Given the description of an element on the screen output the (x, y) to click on. 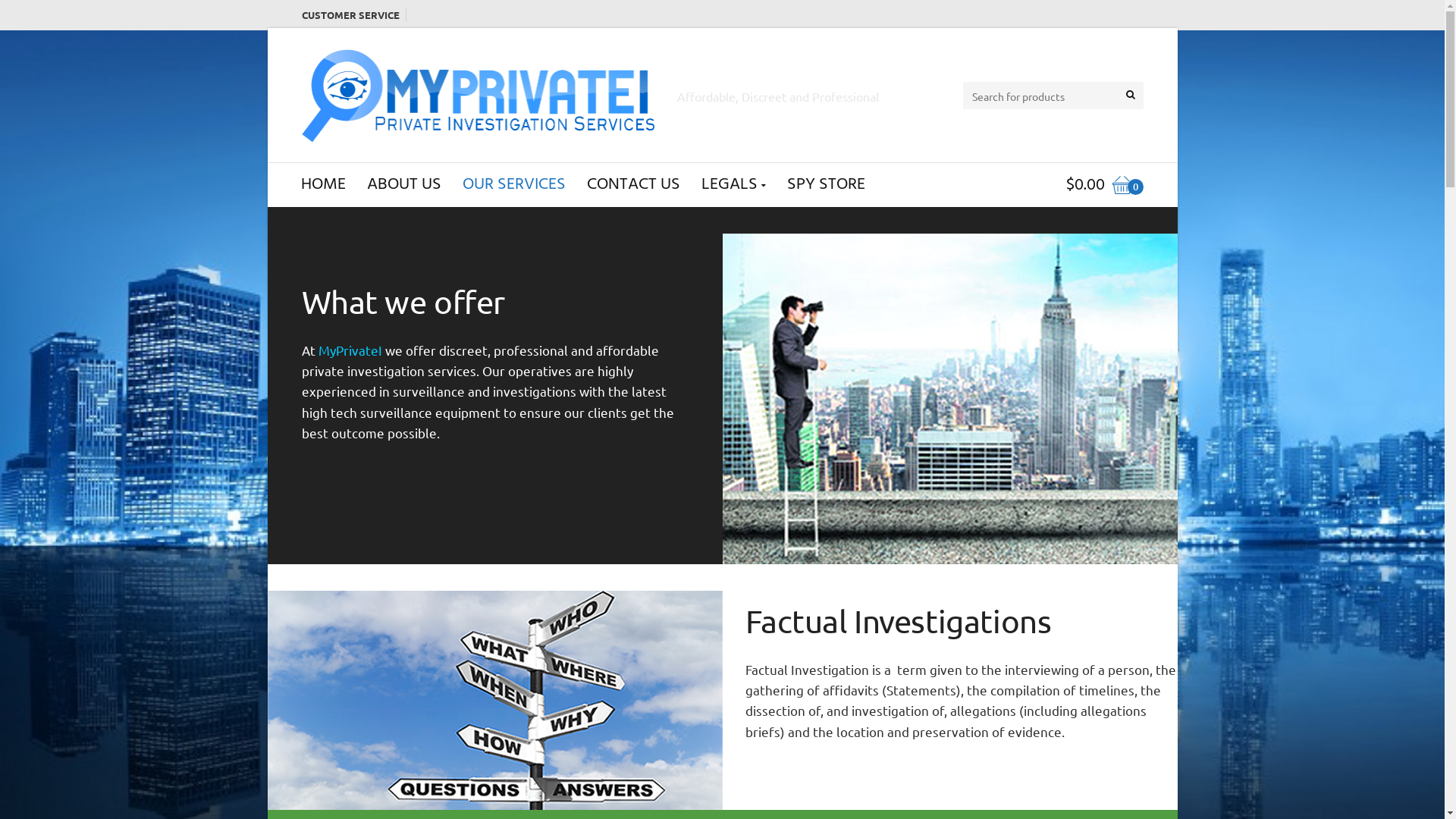
LEGALS Element type: text (732, 185)
SPY STORE Element type: text (826, 184)
OUR SERVICES Element type: text (513, 184)
HOME Element type: text (322, 184)
Search for products Element type: text (1129, 94)
ABOUT US Element type: text (404, 184)
CUSTOMER SERVICE Element type: text (353, 14)
CONTACT US Element type: text (633, 184)
0
$0.00 Element type: text (1096, 184)
